Given the description of an element on the screen output the (x, y) to click on. 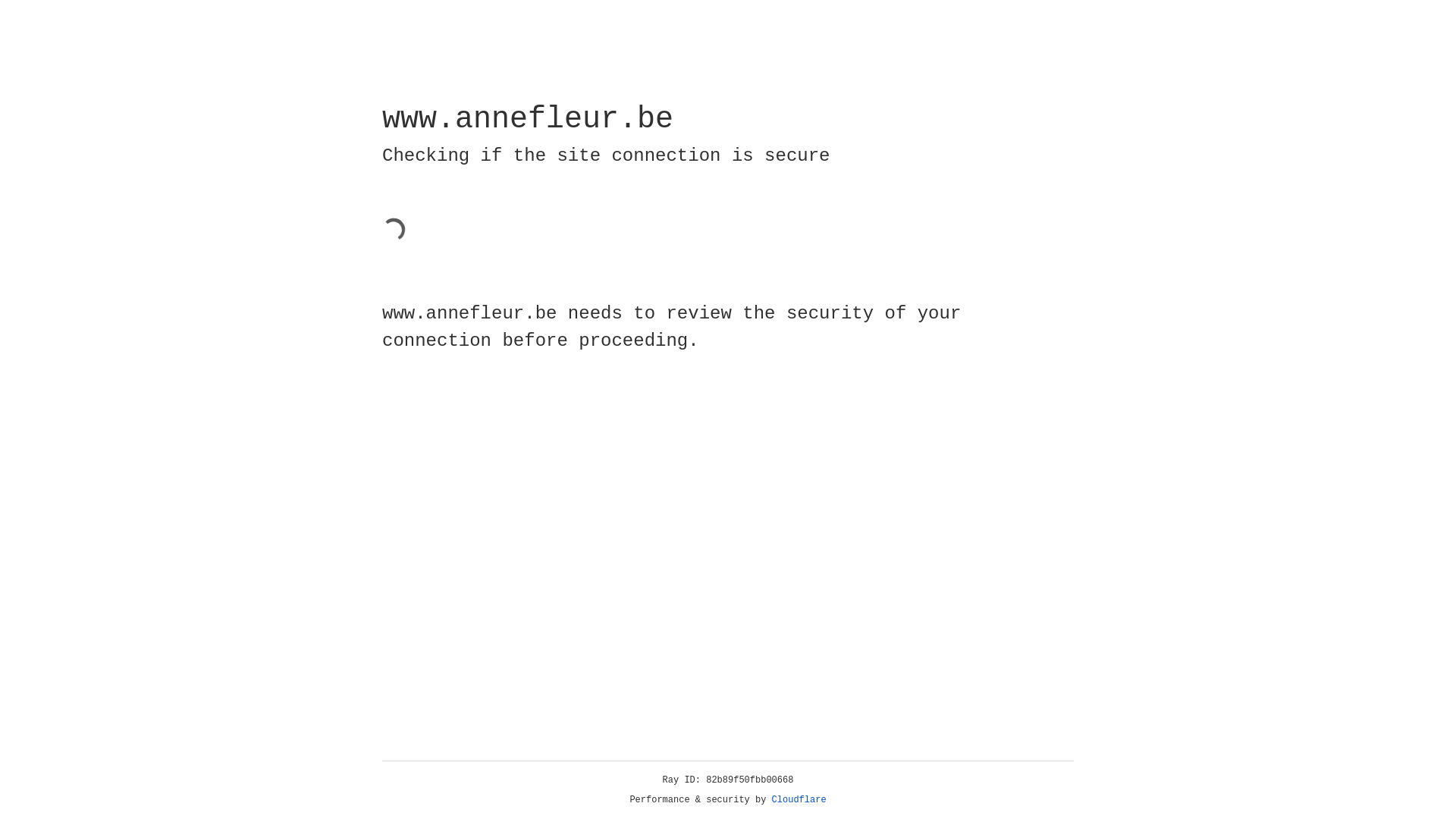
Cloudflare Element type: text (798, 799)
